Given the description of an element on the screen output the (x, y) to click on. 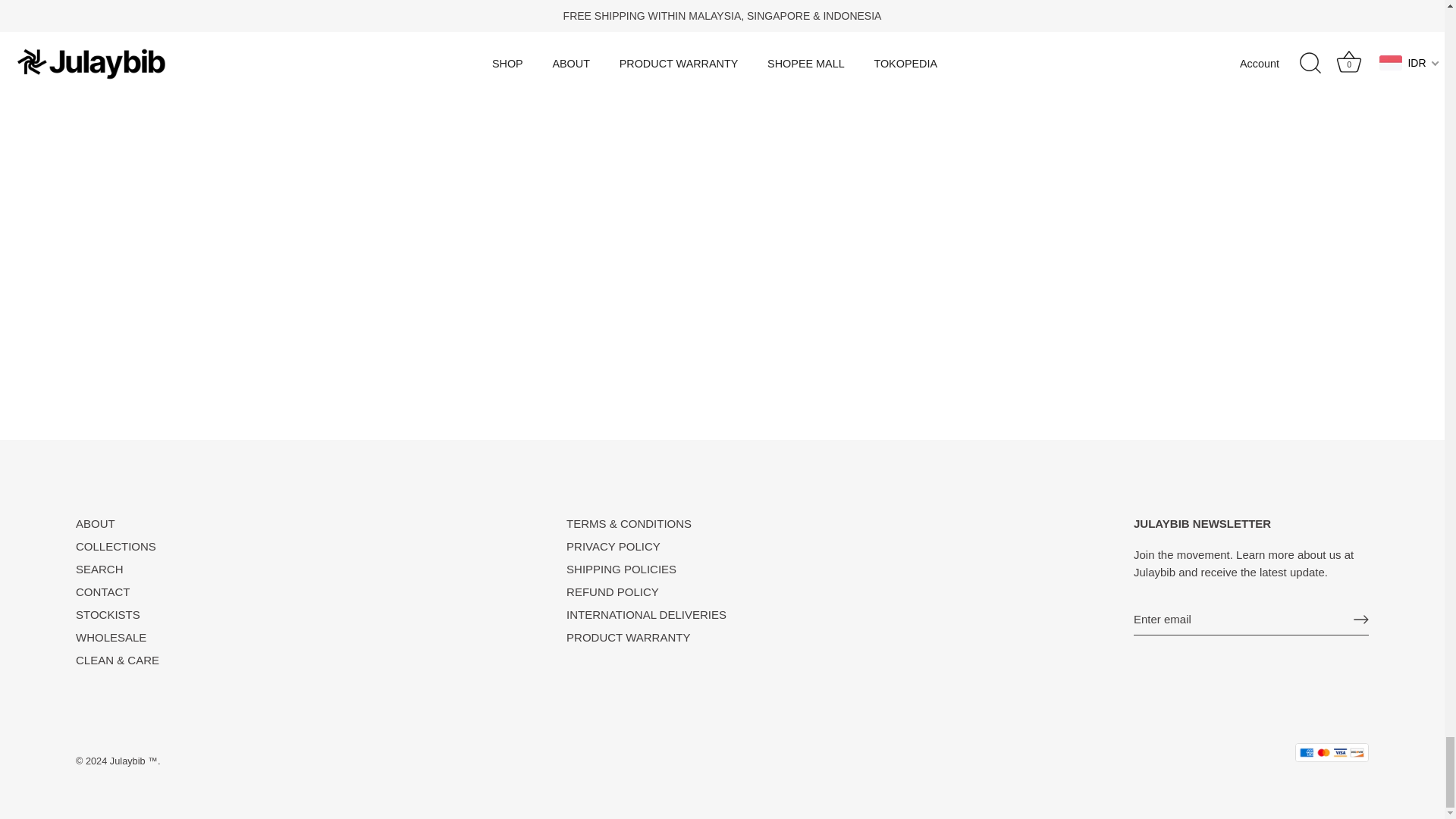
RIGHT ARROW LONG (1361, 619)
